Given the description of an element on the screen output the (x, y) to click on. 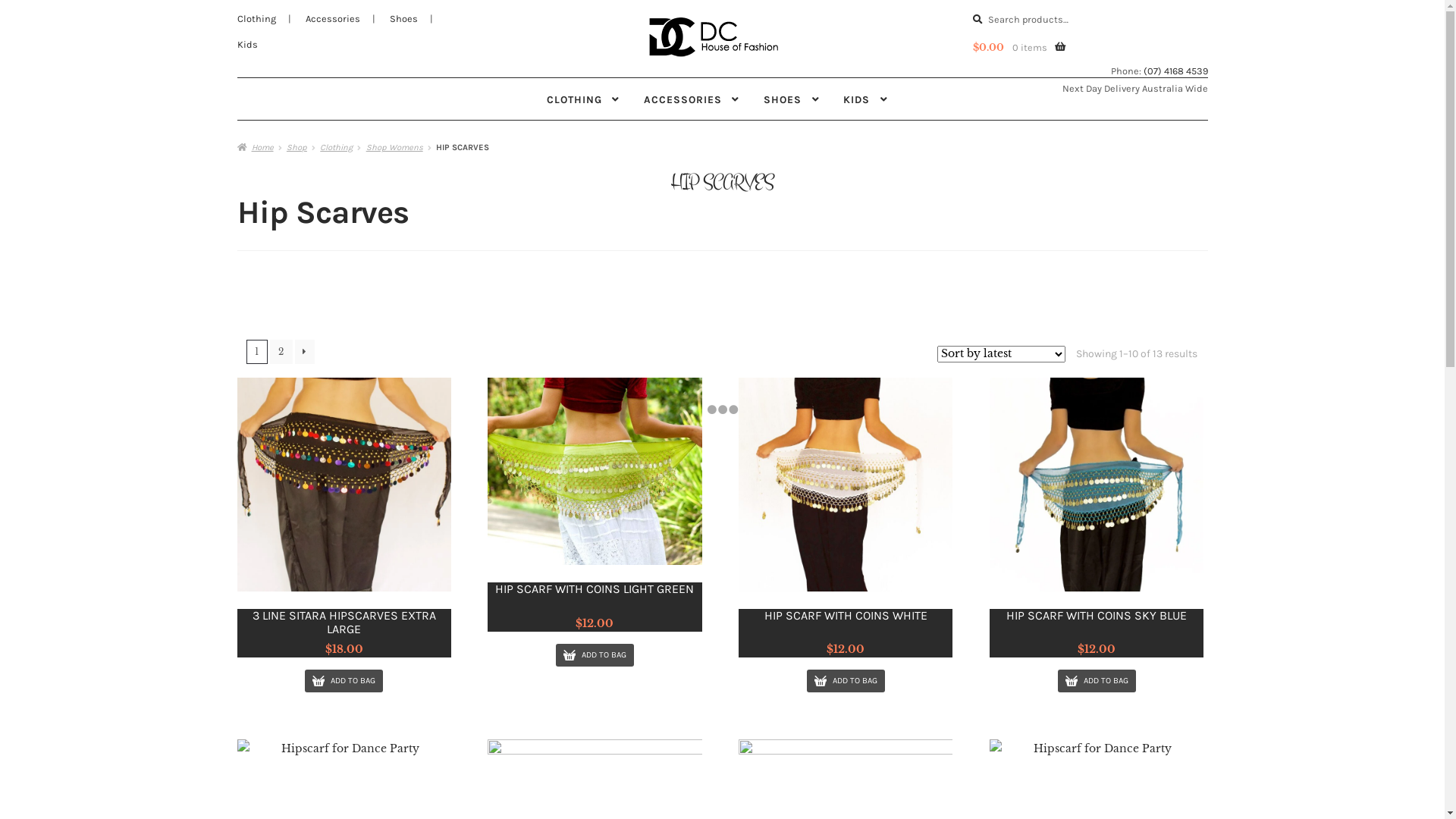
(07) 4168 4539 Element type: text (1175, 70)
Shoes Element type: text (403, 18)
3 LINE SITARA HIPSCARVES EXTRA LARGE
$18.00 Element type: text (343, 517)
KIDS Element type: text (864, 98)
HIP SCARF WITH COINS LIGHT GREEN
$12.00 Element type: text (594, 504)
ADD TO BAG Element type: text (343, 680)
Shop Element type: text (296, 147)
2 Element type: text (280, 351)
SHOES Element type: text (791, 98)
ADD TO BAG Element type: text (1096, 680)
ACCESSORIES Element type: text (691, 98)
ADD TO BAG Element type: text (594, 654)
HIP SCARF WITH COINS WHITE
$12.00 Element type: text (845, 517)
CLOTHING Element type: text (583, 98)
Search Element type: text (972, 5)
ADD TO BAG Element type: text (845, 680)
HIP SCARF WITH COINS SKY BLUE
$12.00 Element type: text (1096, 517)
Shop Womens Element type: text (394, 147)
Clothing Element type: text (336, 147)
Home Element type: text (254, 147)
Kids Element type: text (246, 44)
$0.00 0 items Element type: text (1018, 48)
Clothing Element type: text (255, 18)
Accessories Element type: text (331, 18)
